Given the description of an element on the screen output the (x, y) to click on. 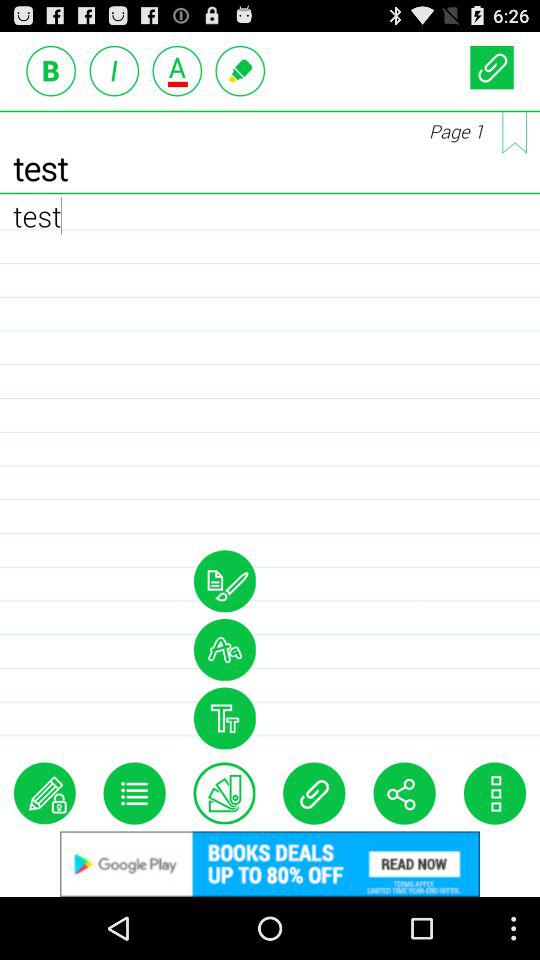
attach file option (314, 793)
